Given the description of an element on the screen output the (x, y) to click on. 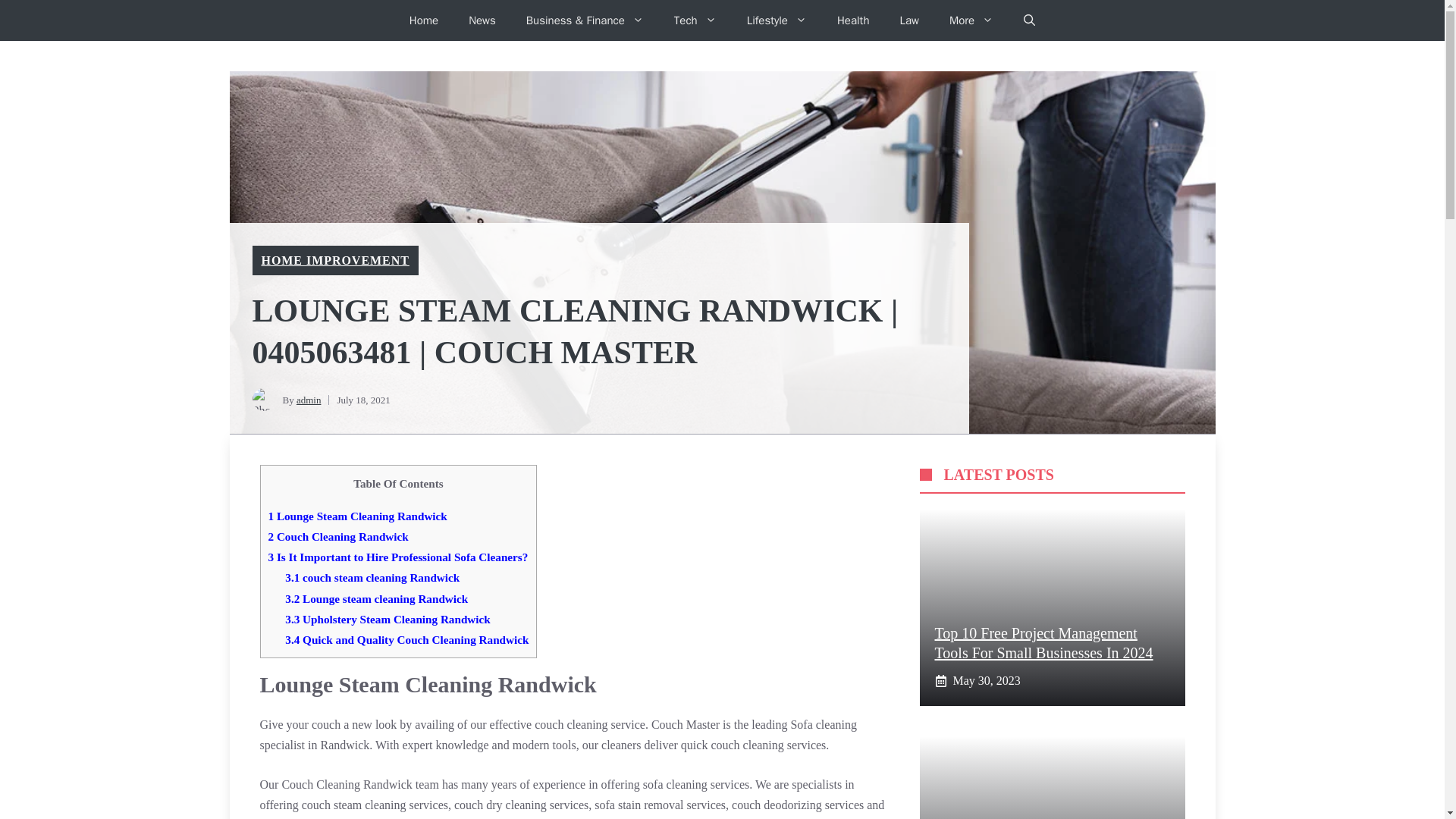
Lifestyle (777, 20)
News (481, 20)
Tech (695, 20)
Home (423, 20)
